Given the description of an element on the screen output the (x, y) to click on. 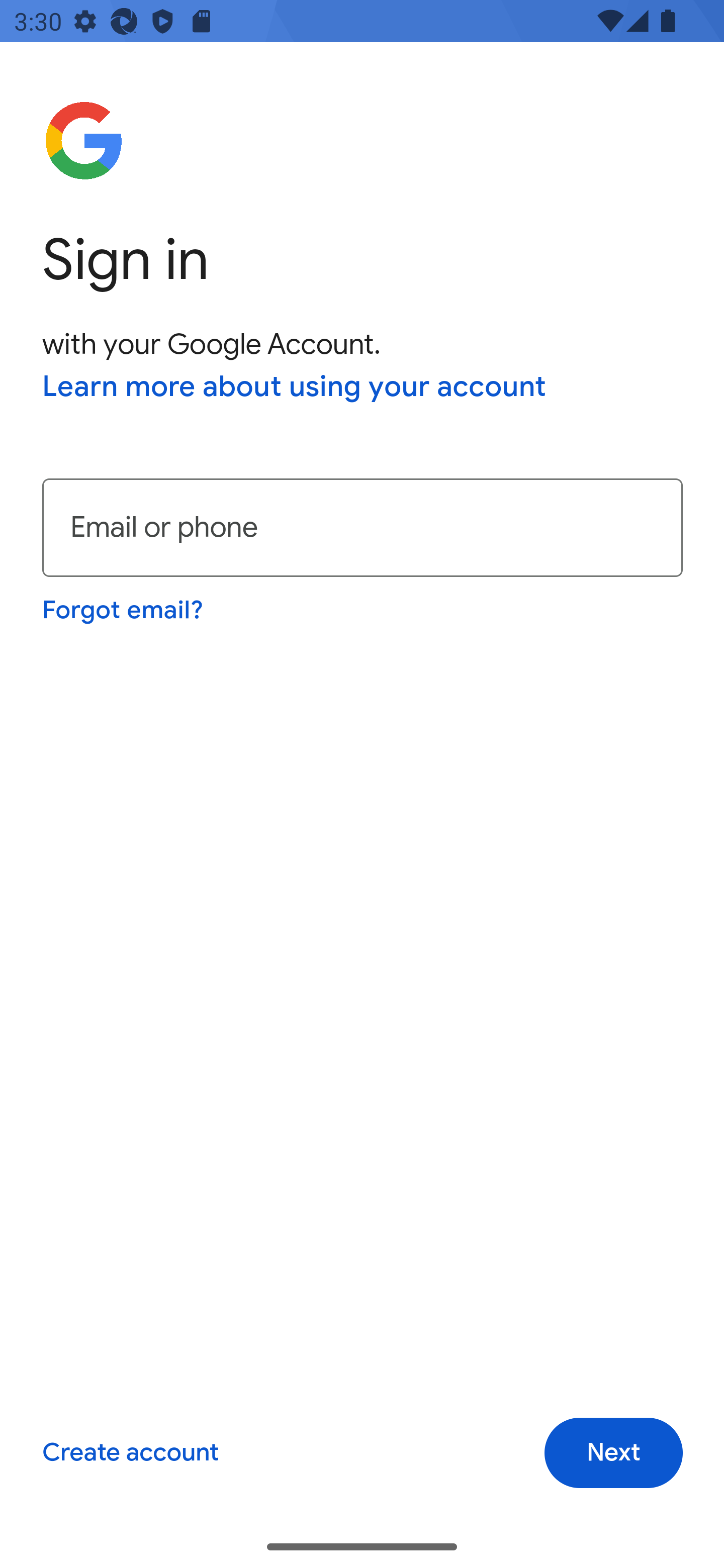
Learn more about using your account (294, 388)
Forgot email? (123, 609)
Create account (129, 1453)
Next (613, 1453)
